Given the description of an element on the screen output the (x, y) to click on. 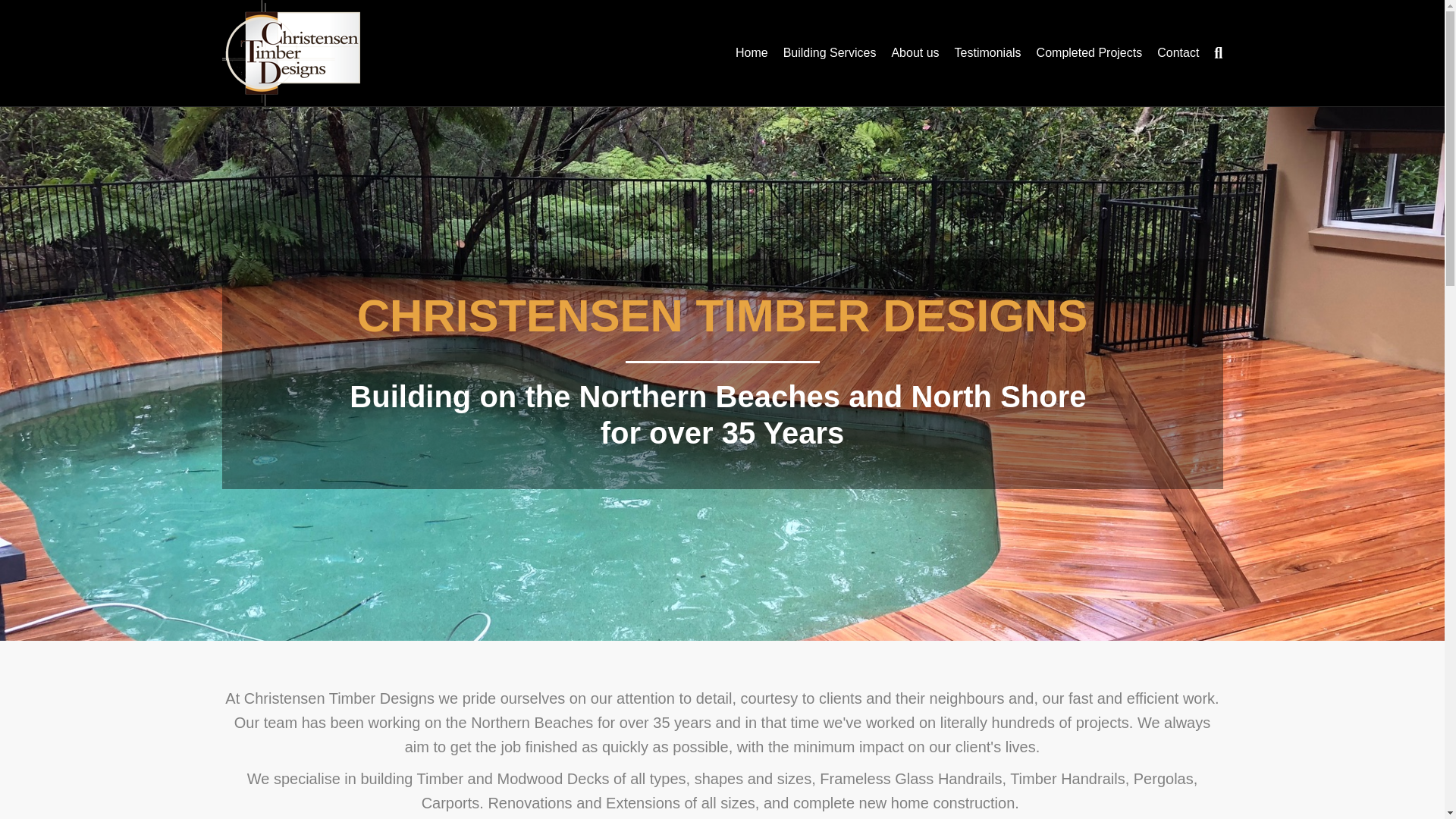
Building Services (829, 52)
About us (914, 52)
Home (752, 52)
